Given the description of an element on the screen output the (x, y) to click on. 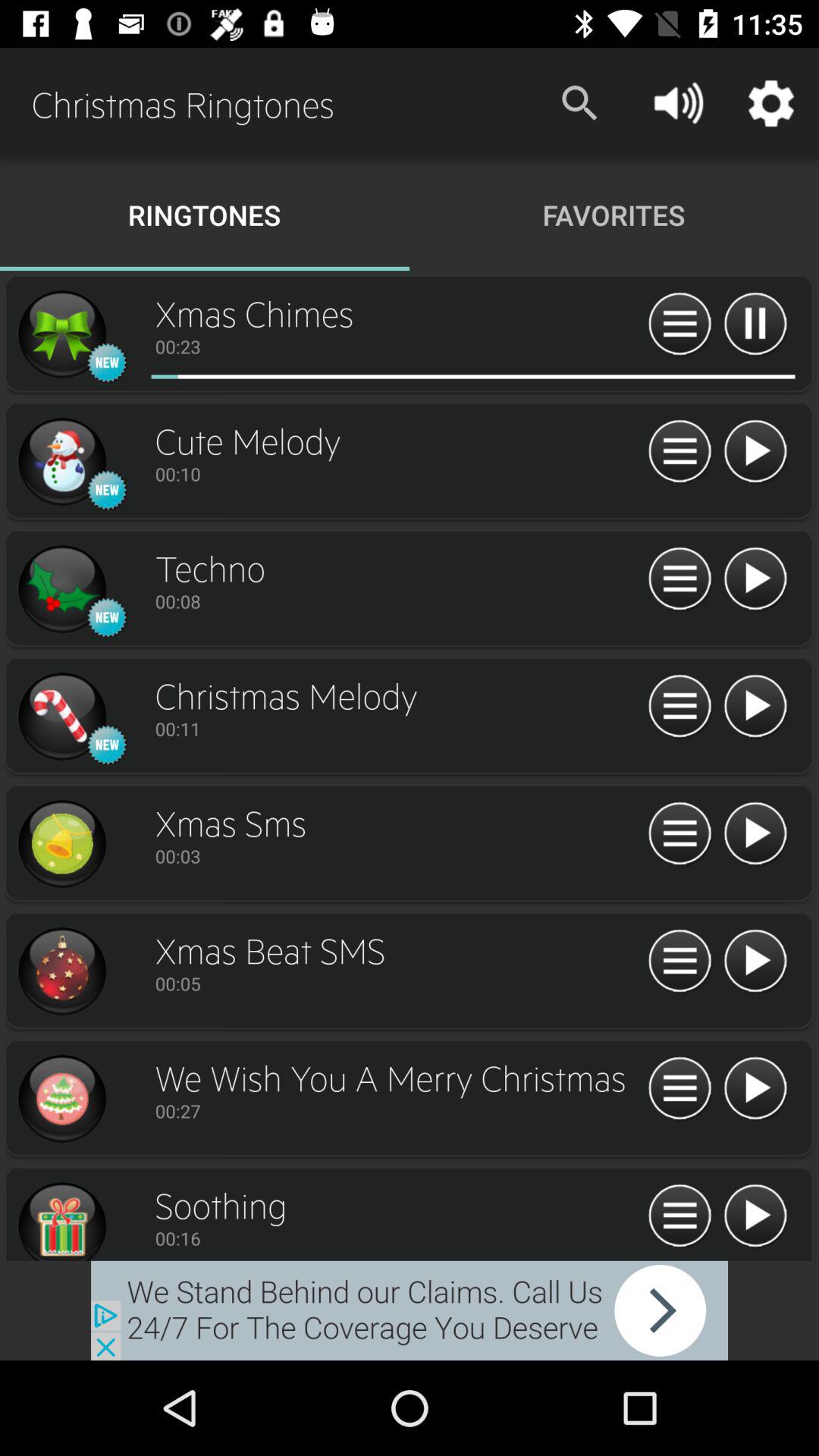
play sound (755, 1216)
